Given the description of an element on the screen output the (x, y) to click on. 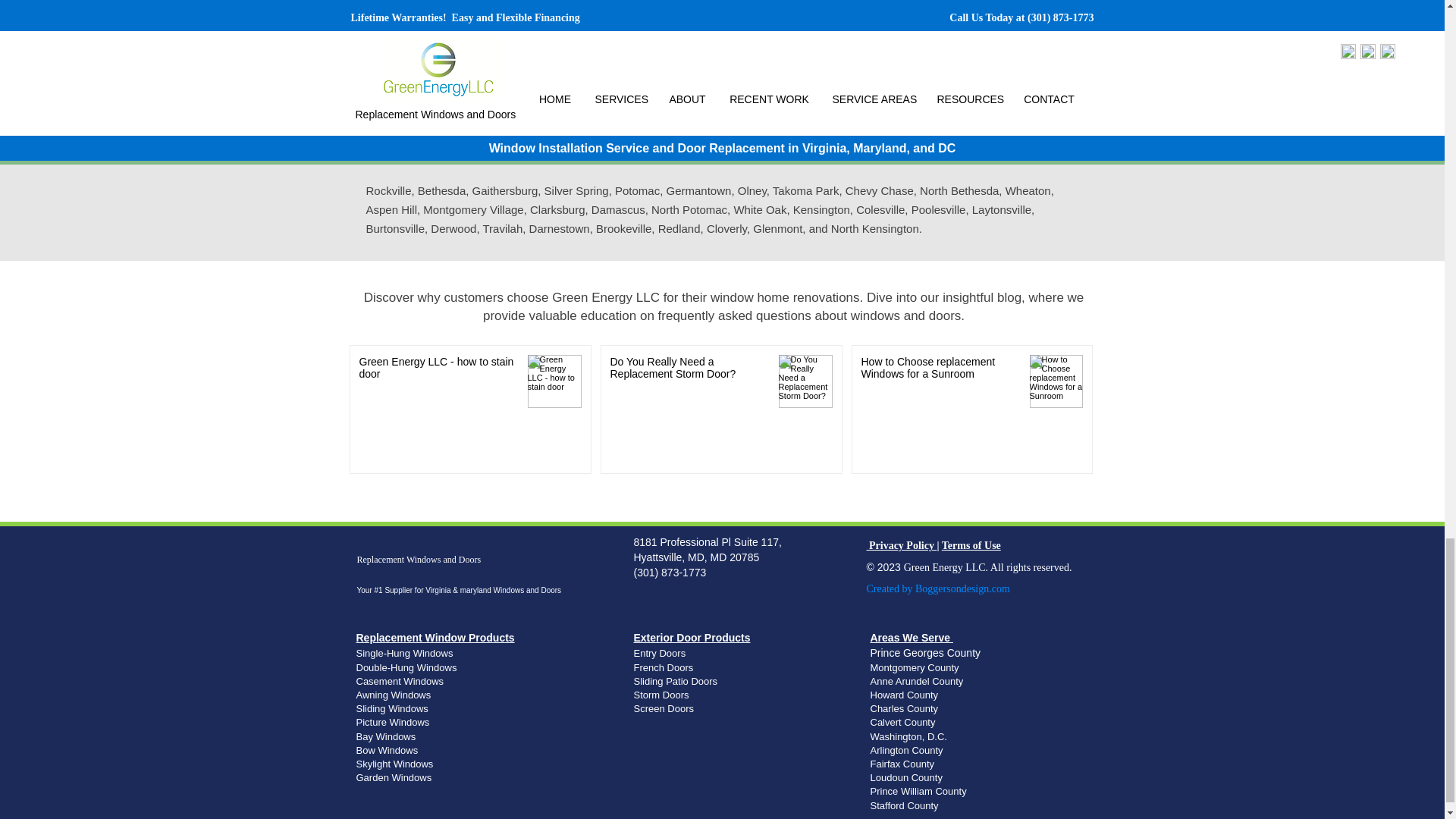
Green Energy LLC - how to stain door (438, 370)
Contact us (823, 58)
Do You Really Need a Replacement Storm Door? (689, 370)
